Given the description of an element on the screen output the (x, y) to click on. 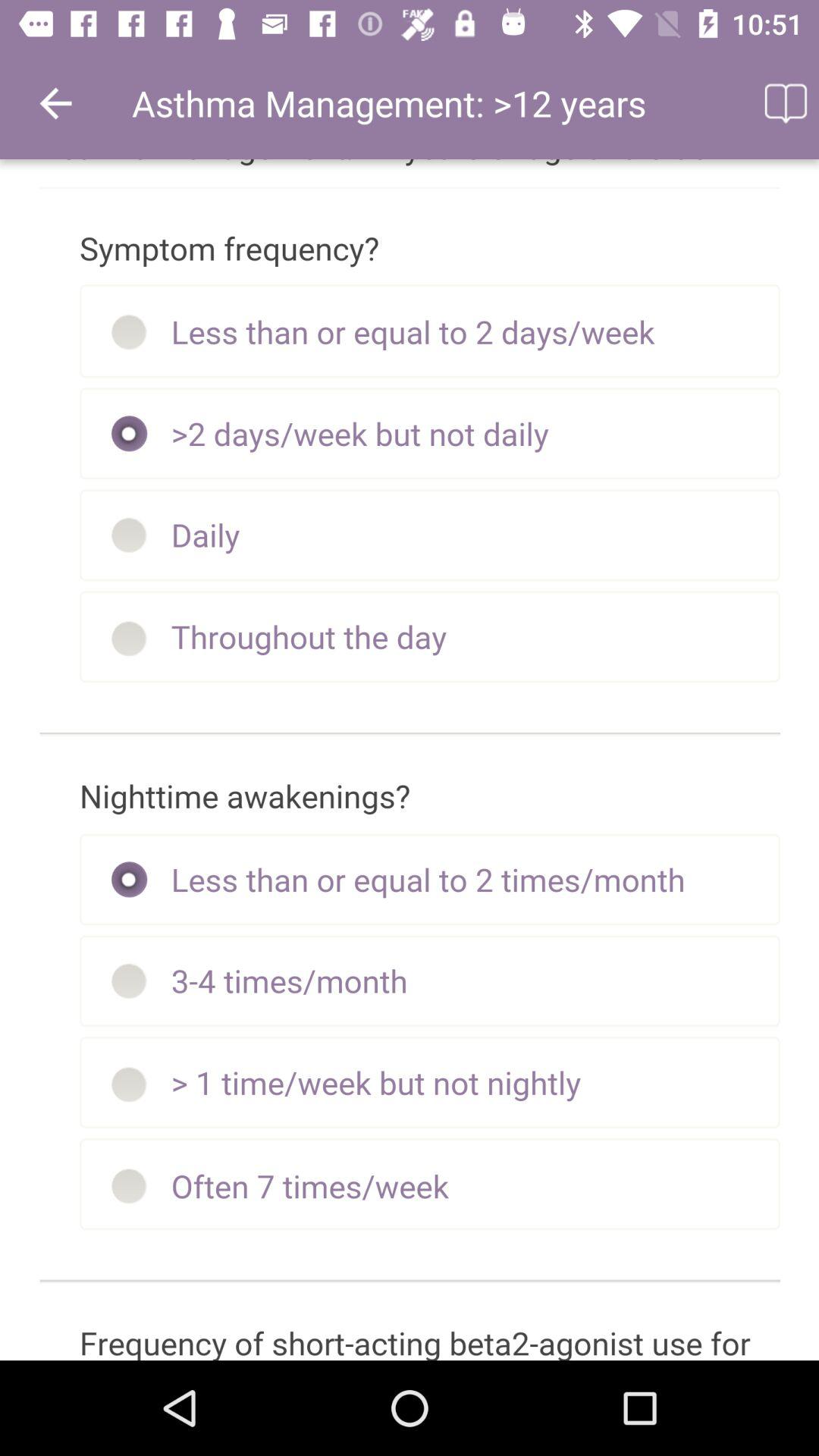
press the icon at the center (409, 759)
